Given the description of an element on the screen output the (x, y) to click on. 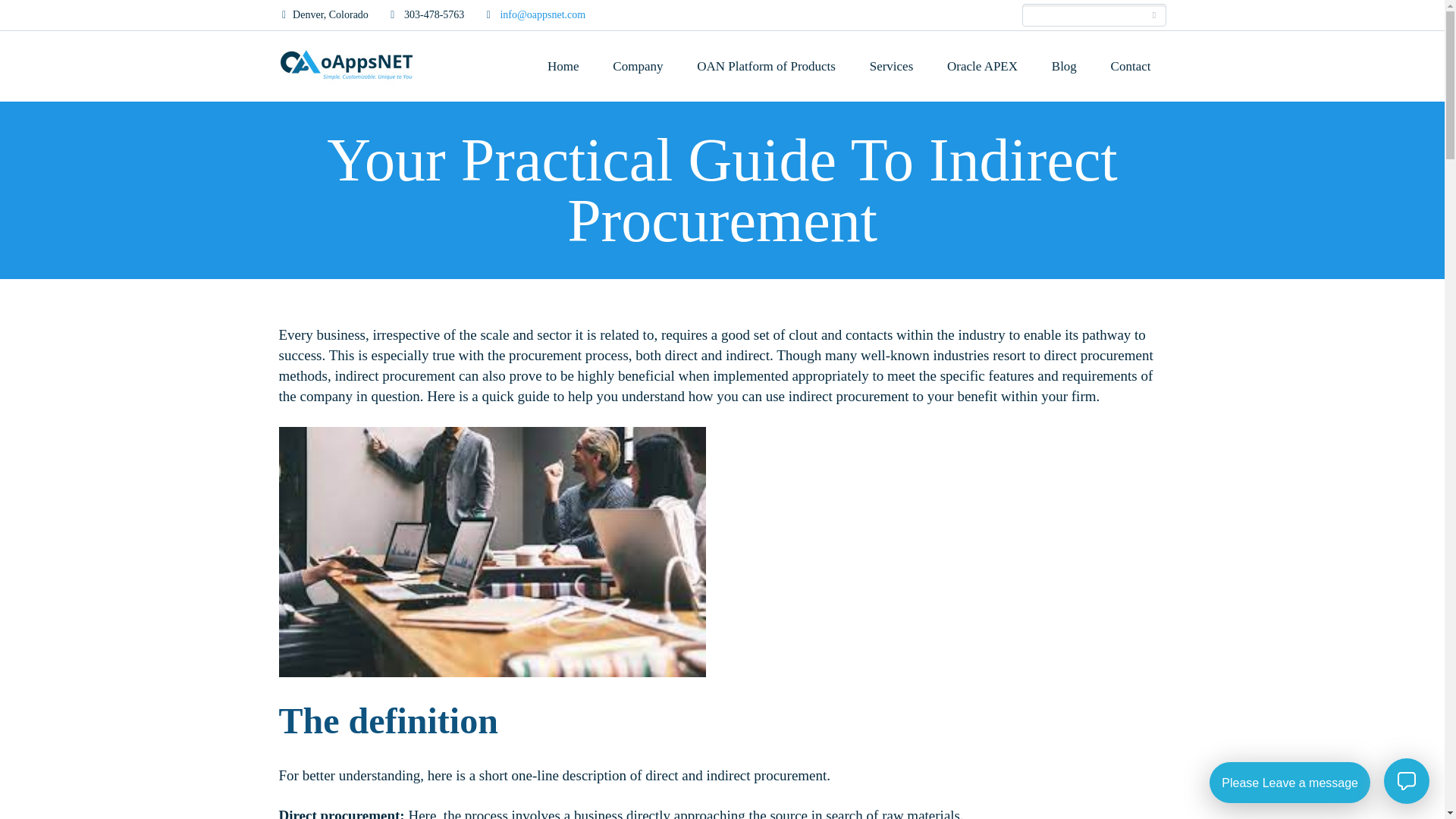
Home (563, 65)
Search (1154, 15)
Company (637, 65)
OAN Platform of Products (765, 65)
Services (891, 65)
